Given the description of an element on the screen output the (x, y) to click on. 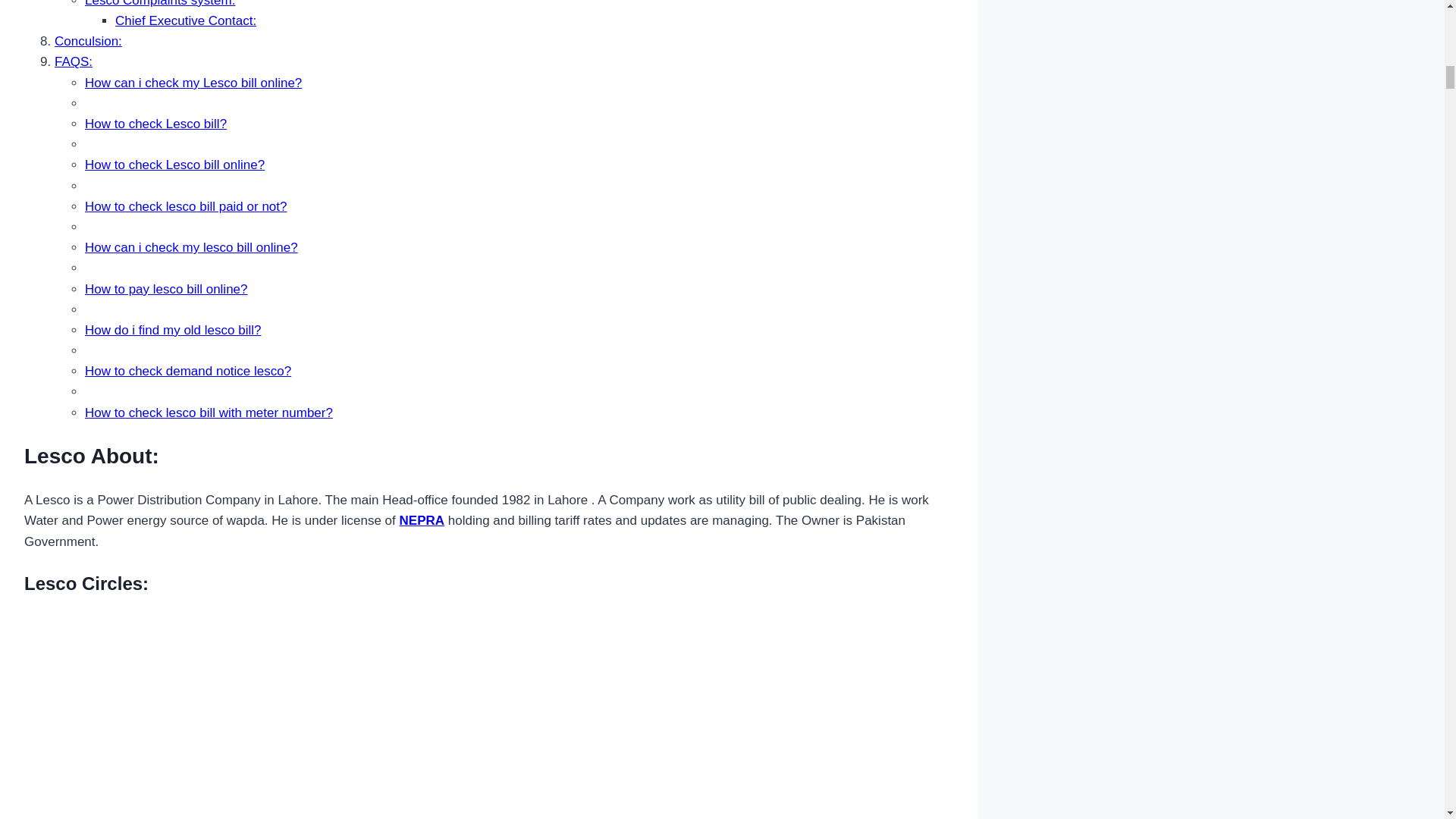
Lesco Complaints system: (159, 3)
Conculsion: (88, 41)
Chief Executive Contact: (185, 20)
